Given the description of an element on the screen output the (x, y) to click on. 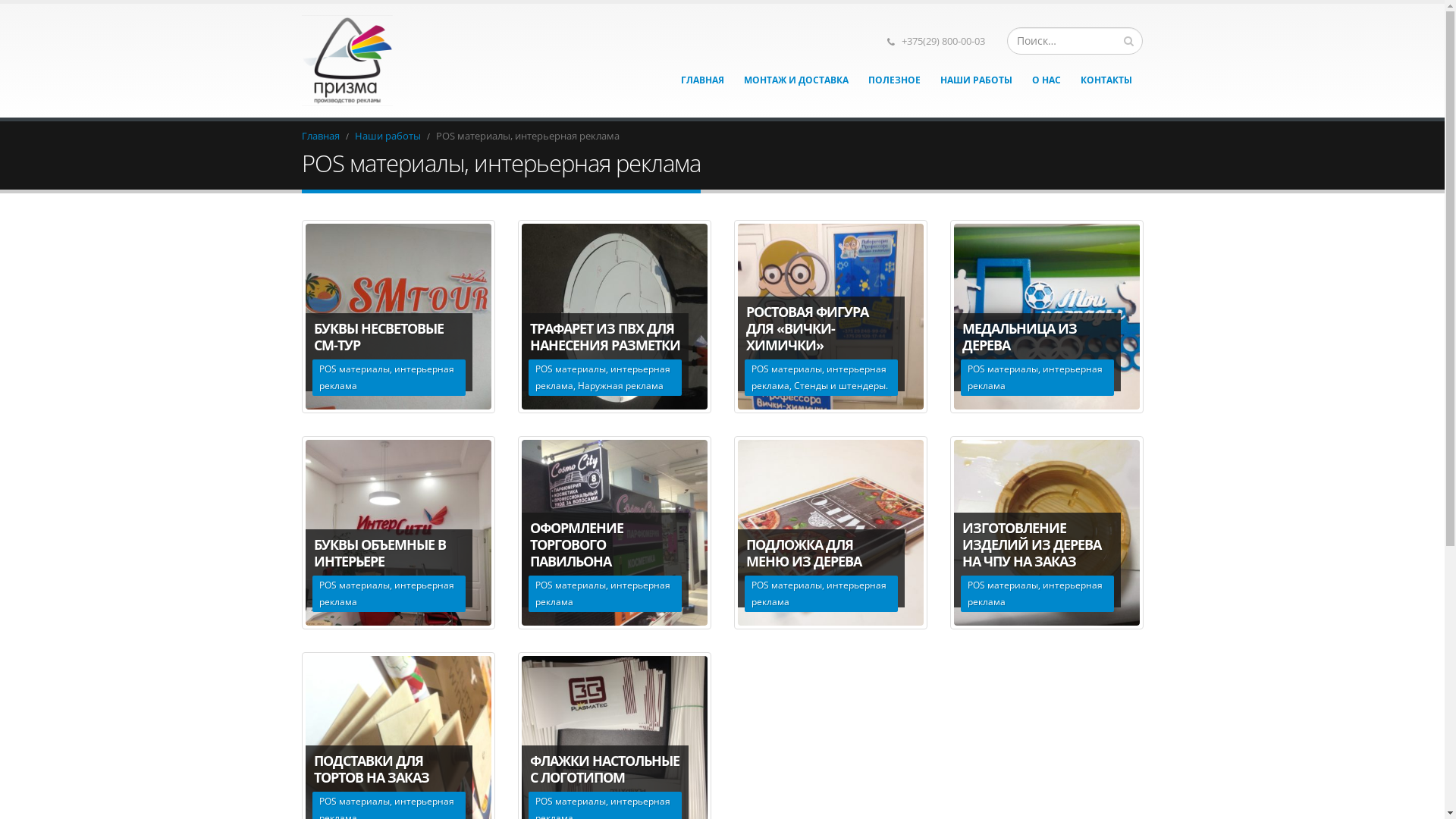
Search Element type: hover (1128, 40)
